Given the description of an element on the screen output the (x, y) to click on. 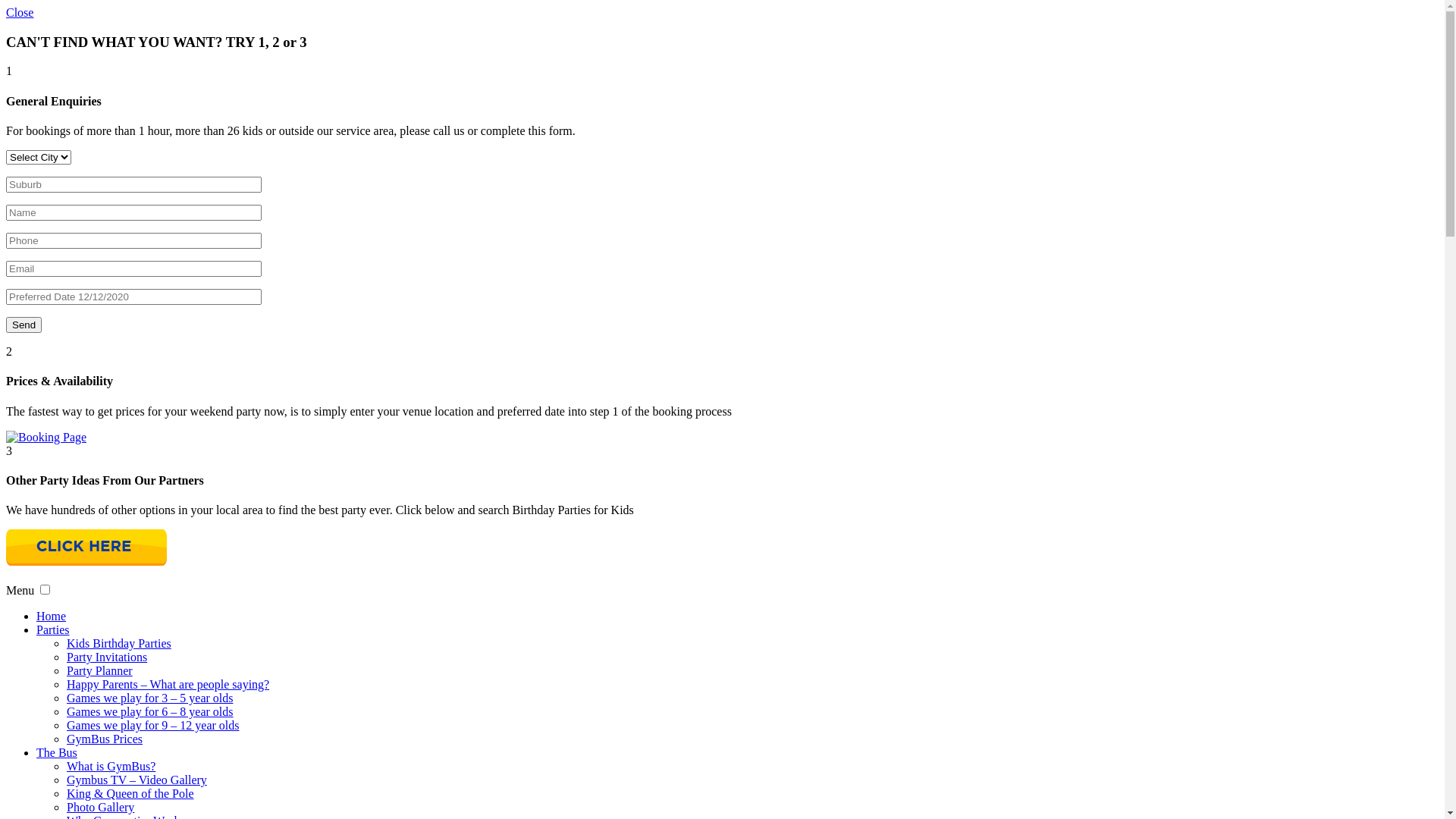
Photo Gallery Element type: text (100, 806)
Party Invitations Element type: text (106, 656)
GymBus Prices Element type: text (104, 738)
Parties Element type: text (52, 629)
What is GymBus? Element type: text (110, 765)
Kids Birthday Parties Element type: text (118, 643)
Home Element type: text (50, 615)
King & Queen of the Pole Element type: text (130, 793)
The Bus Element type: text (56, 752)
Party Planner Element type: text (99, 670)
Send Element type: text (23, 324)
Close Element type: text (19, 12)
